Given the description of an element on the screen output the (x, y) to click on. 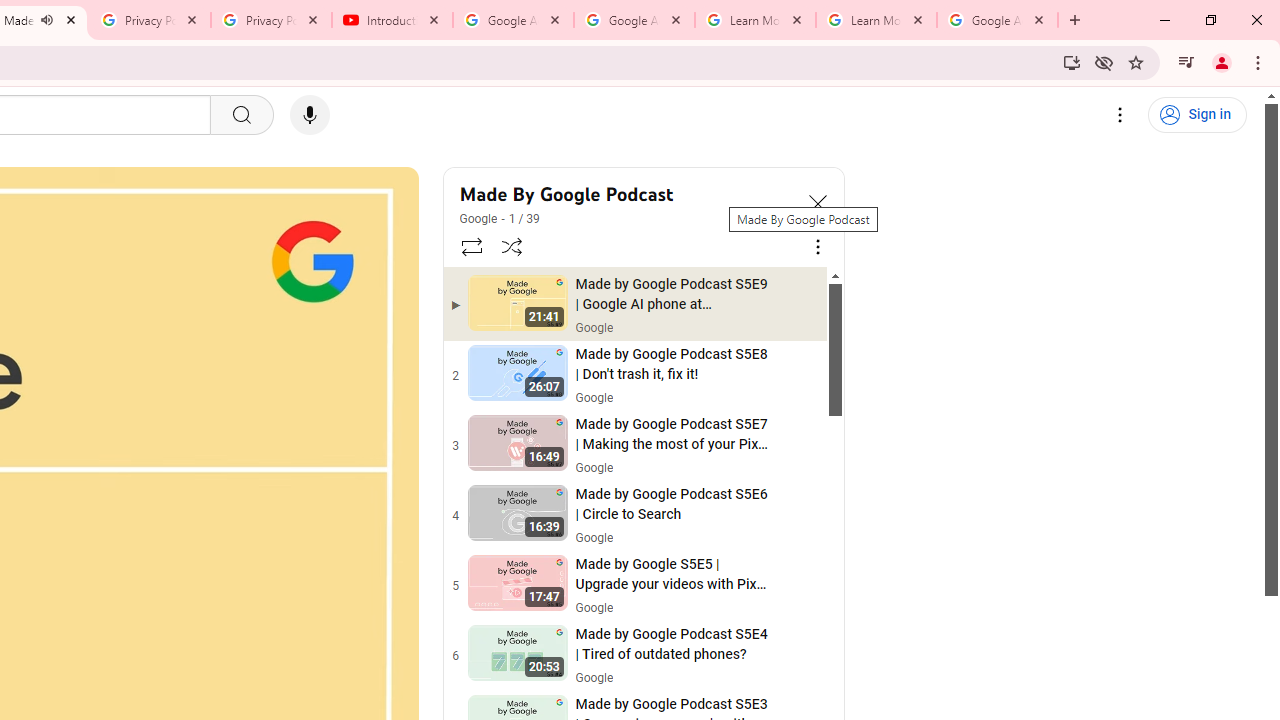
Loop playlist (470, 246)
Collapse (817, 202)
Google Account (997, 20)
Made By Google Podcast (625, 194)
